Given the description of an element on the screen output the (x, y) to click on. 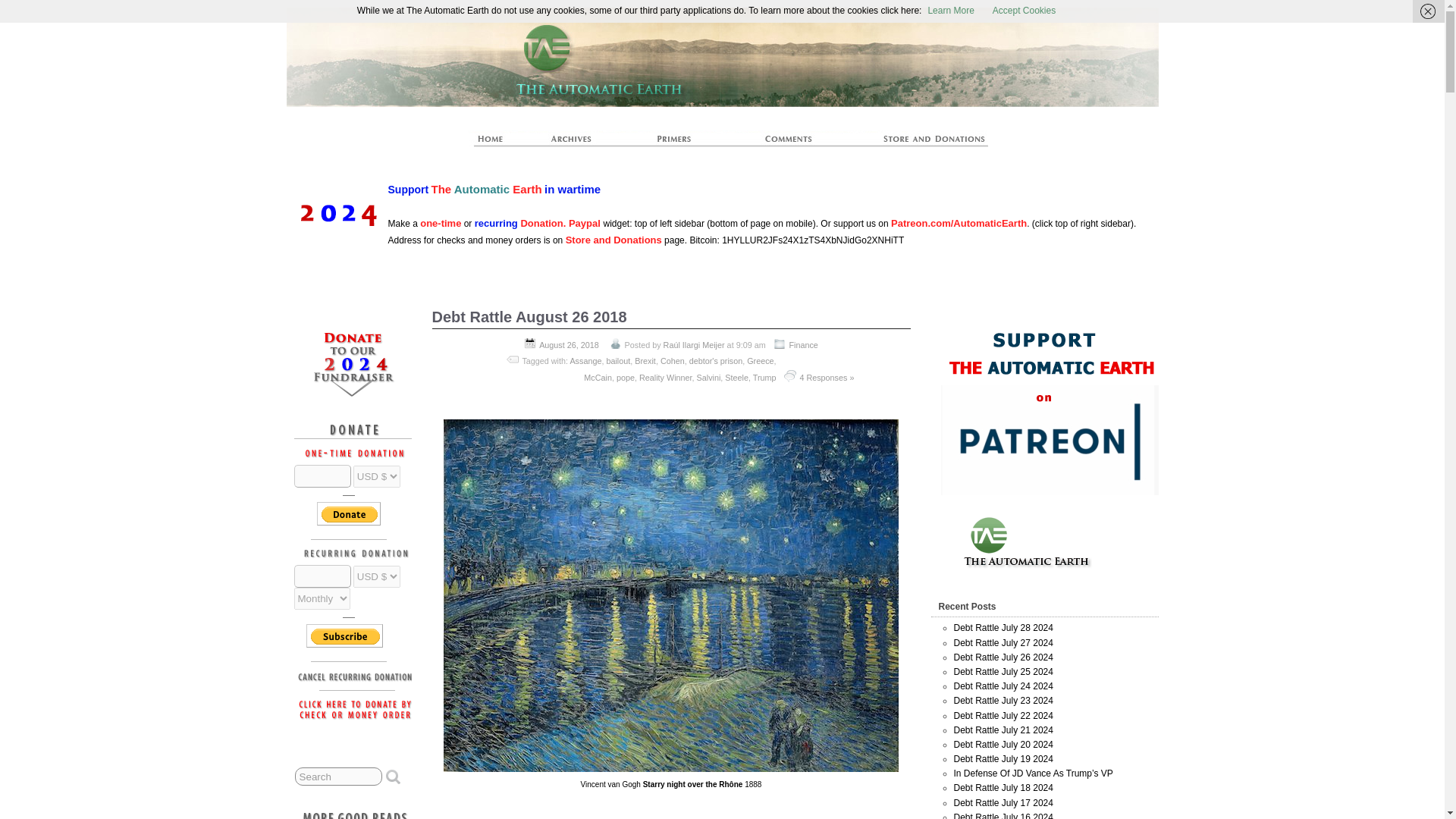
Debt Rattle August 26 2018 (529, 316)
Cohen (672, 360)
Trump (764, 377)
Search (338, 776)
pope (624, 377)
Store and Donations (614, 240)
Assange (585, 360)
Greece (759, 360)
Archives (577, 143)
debtor's prison (715, 360)
Primers (680, 143)
Store And Donations (916, 143)
Finance (802, 344)
McCain (597, 377)
Steele (736, 377)
